Given the description of an element on the screen output the (x, y) to click on. 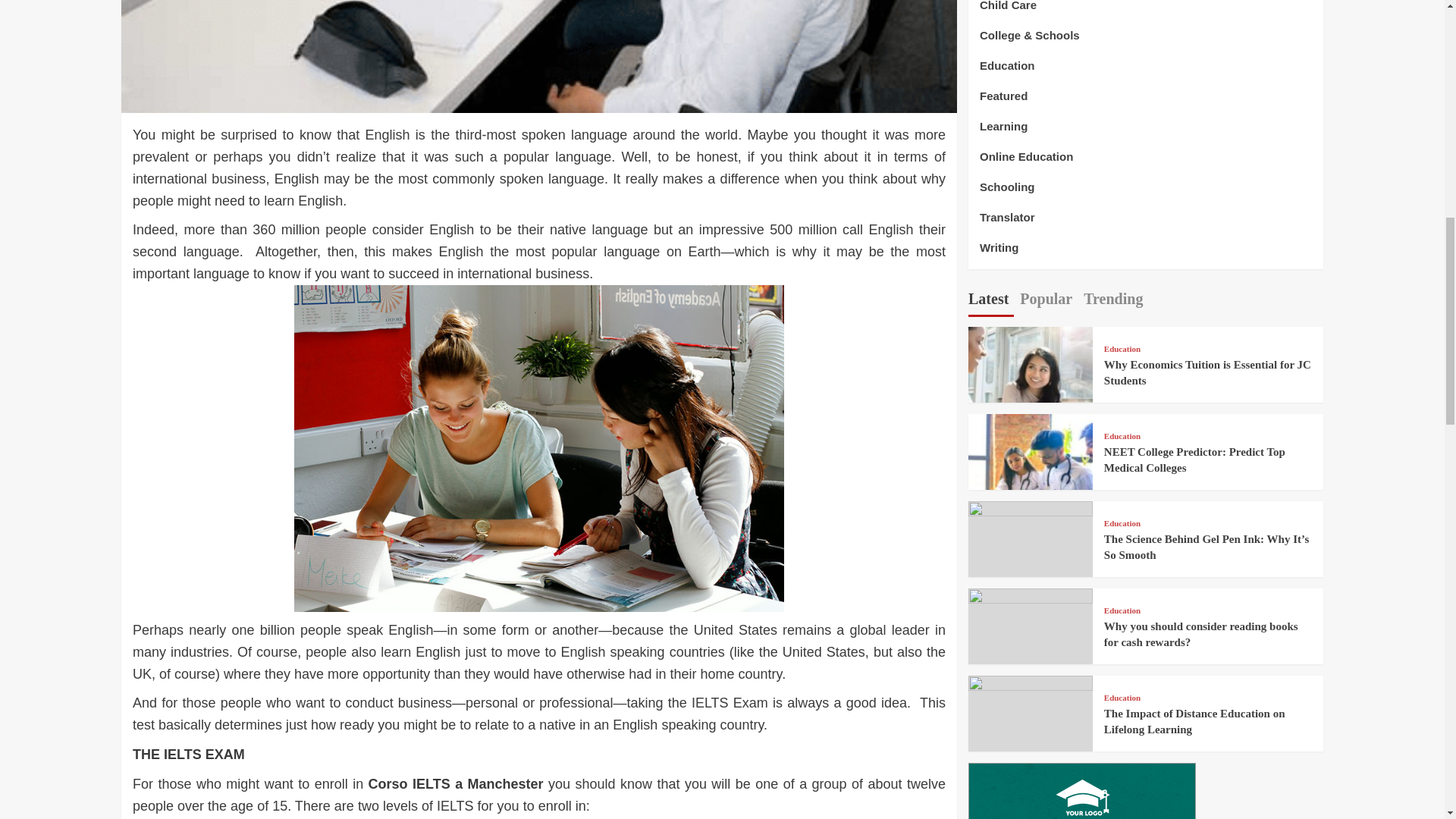
Permanent Link to Modules of Library Management System (1077, 788)
